Given the description of an element on the screen output the (x, y) to click on. 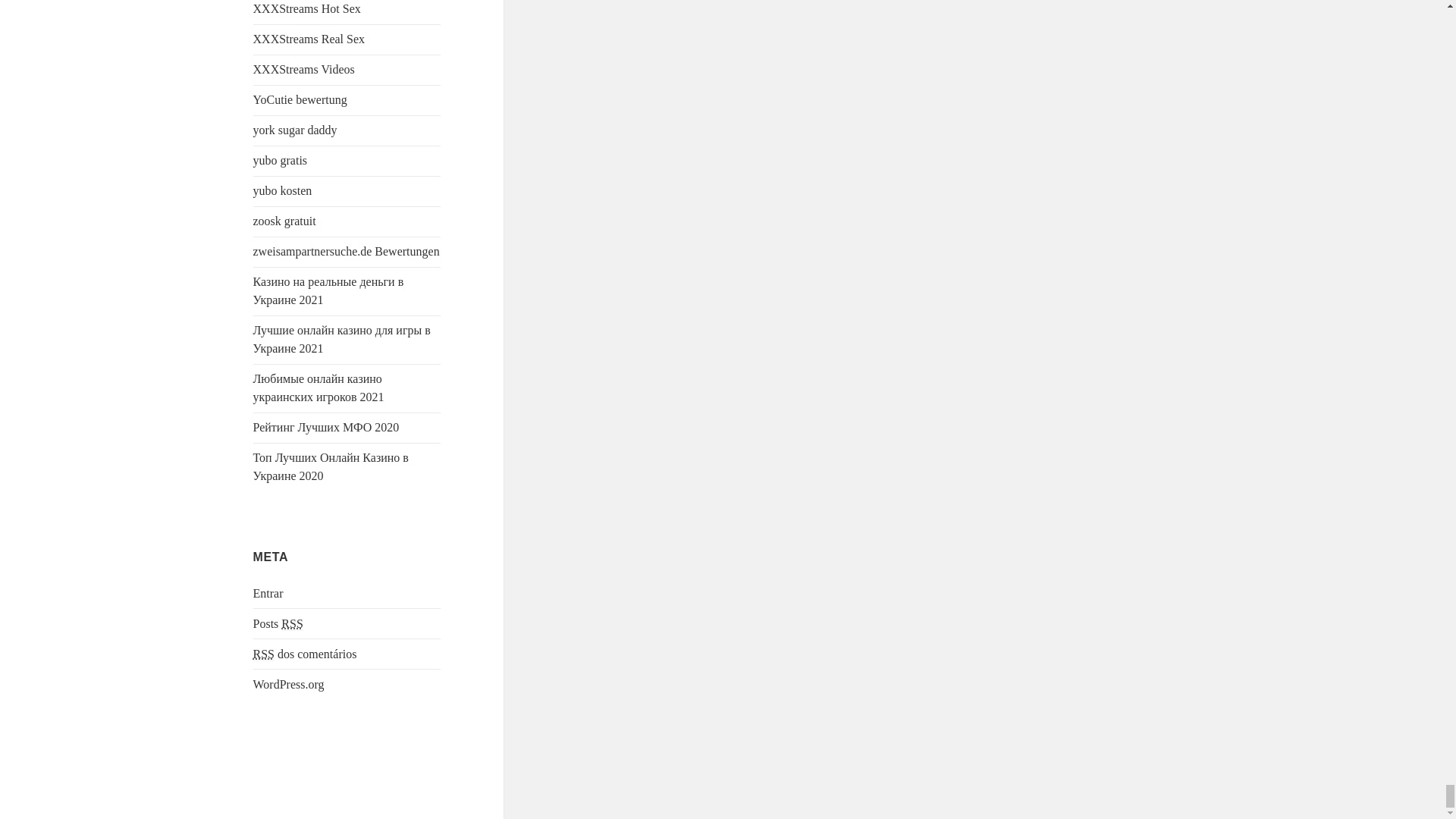
Really Simple Syndication (291, 623)
